Given the description of an element on the screen output the (x, y) to click on. 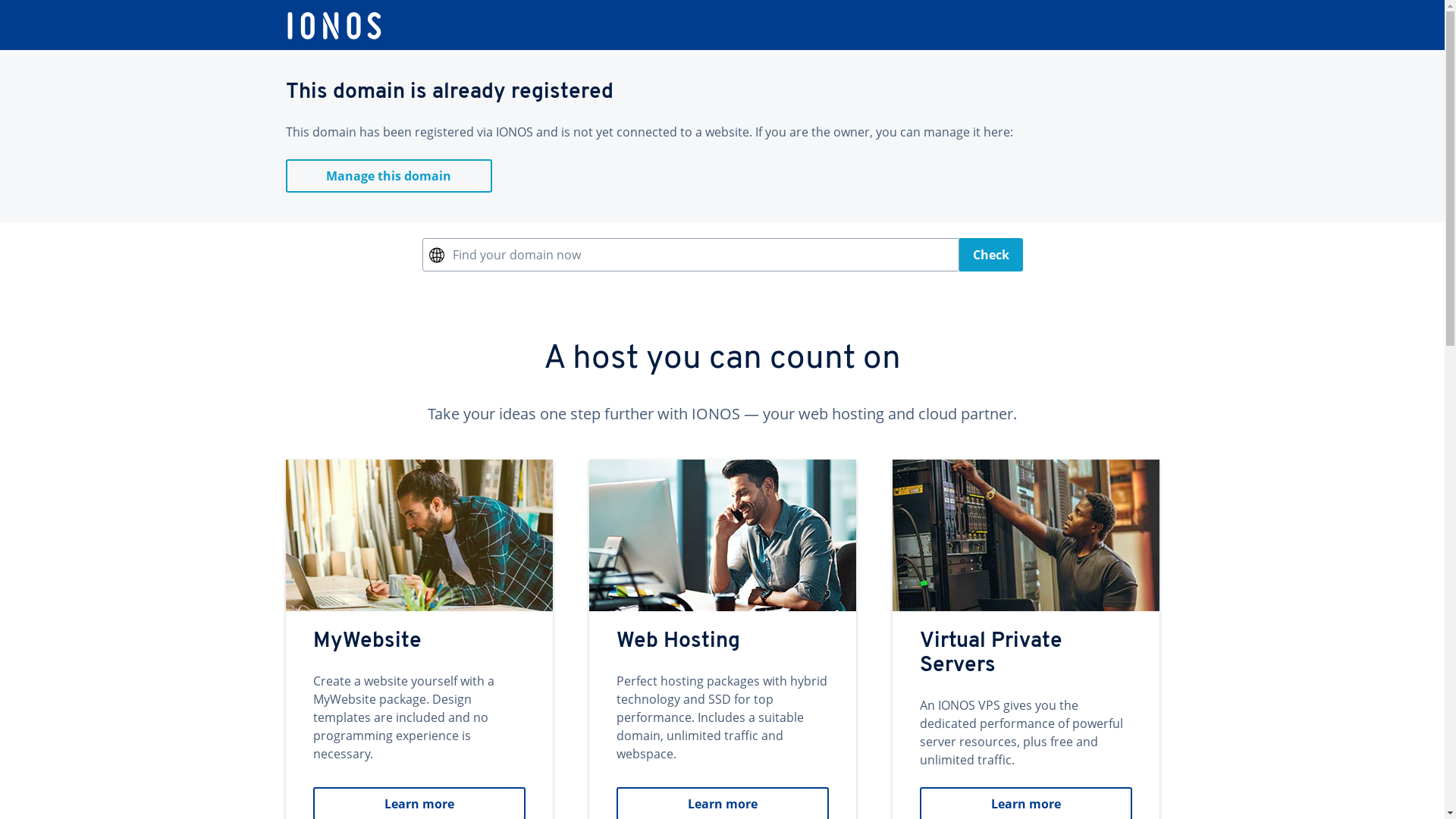
Manage this domain Element type: text (388, 175)
Check Element type: text (990, 254)
